Given the description of an element on the screen output the (x, y) to click on. 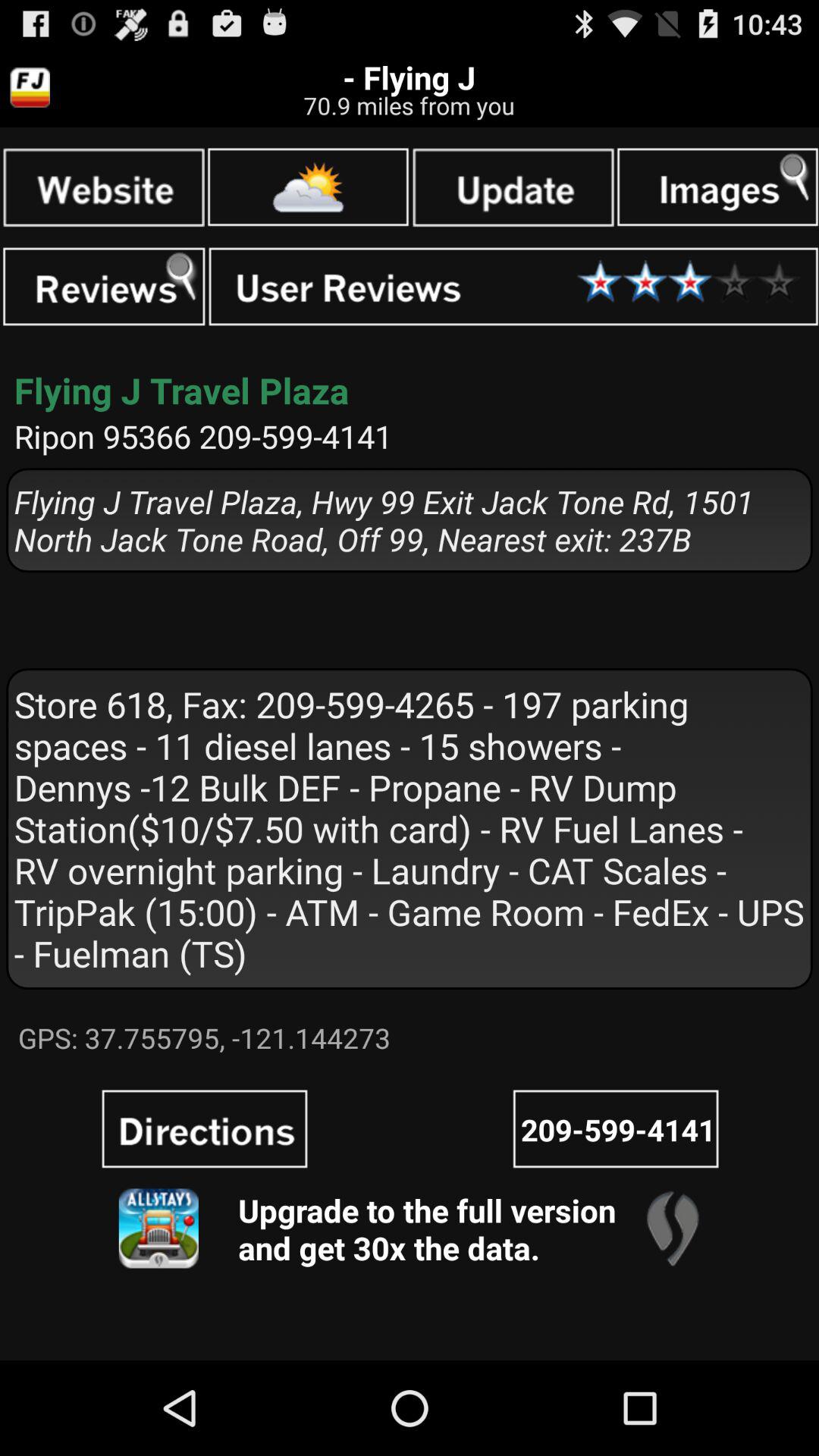
go to the weather tab (308, 186)
